Given the description of an element on the screen output the (x, y) to click on. 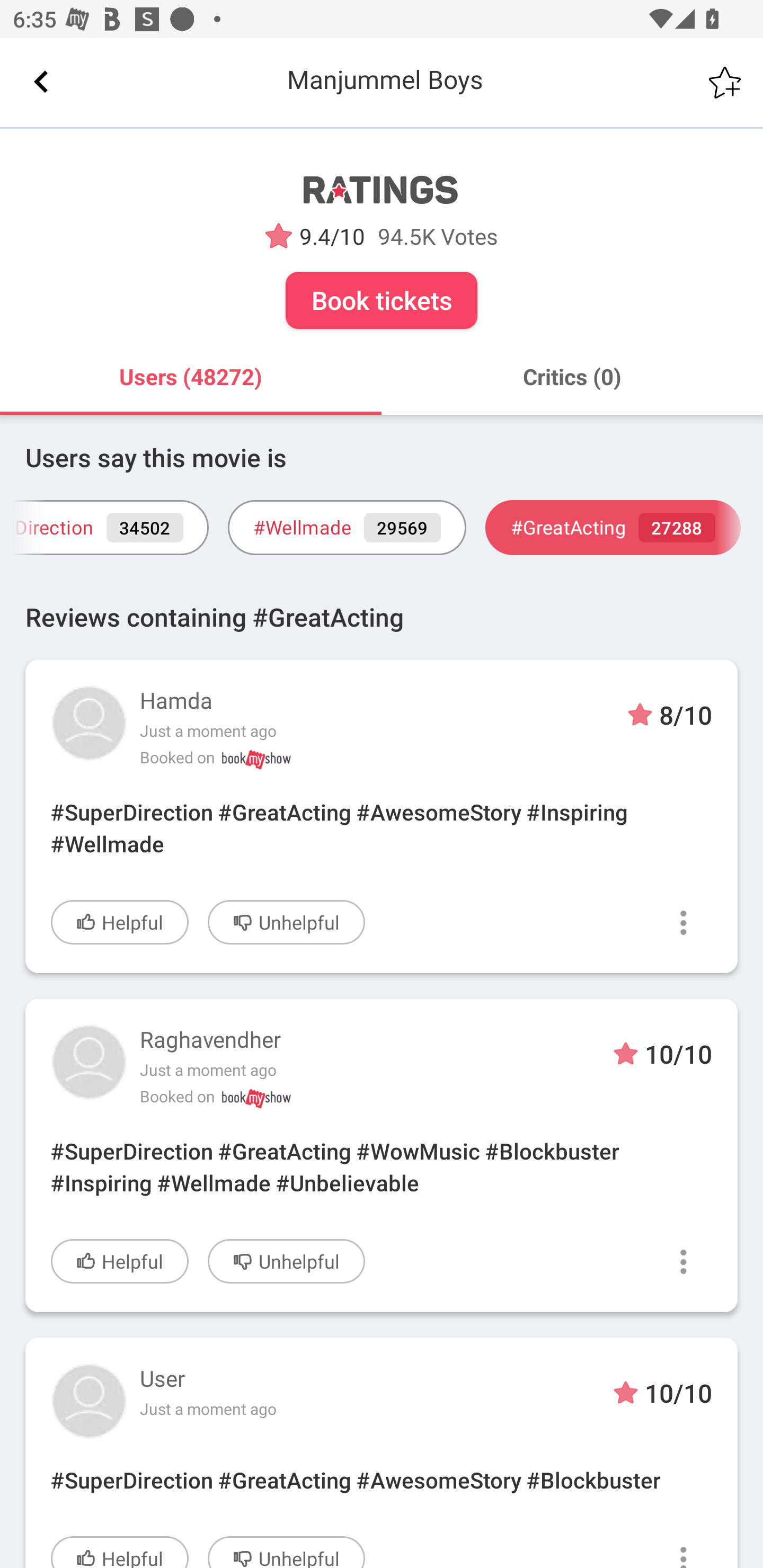
Back (41, 82)
Book tickets (381, 299)
Critics (0) (572, 376)
#SuperDirection 34502 (104, 527)
#Wellmade 29569 (347, 527)
#GreatActing 27288 (612, 527)
Helpful (119, 921)
Unhelpful (285, 921)
Helpful (119, 1261)
Unhelpful (285, 1261)
Helpful (119, 1552)
Unhelpful (285, 1552)
